Given the description of an element on the screen output the (x, y) to click on. 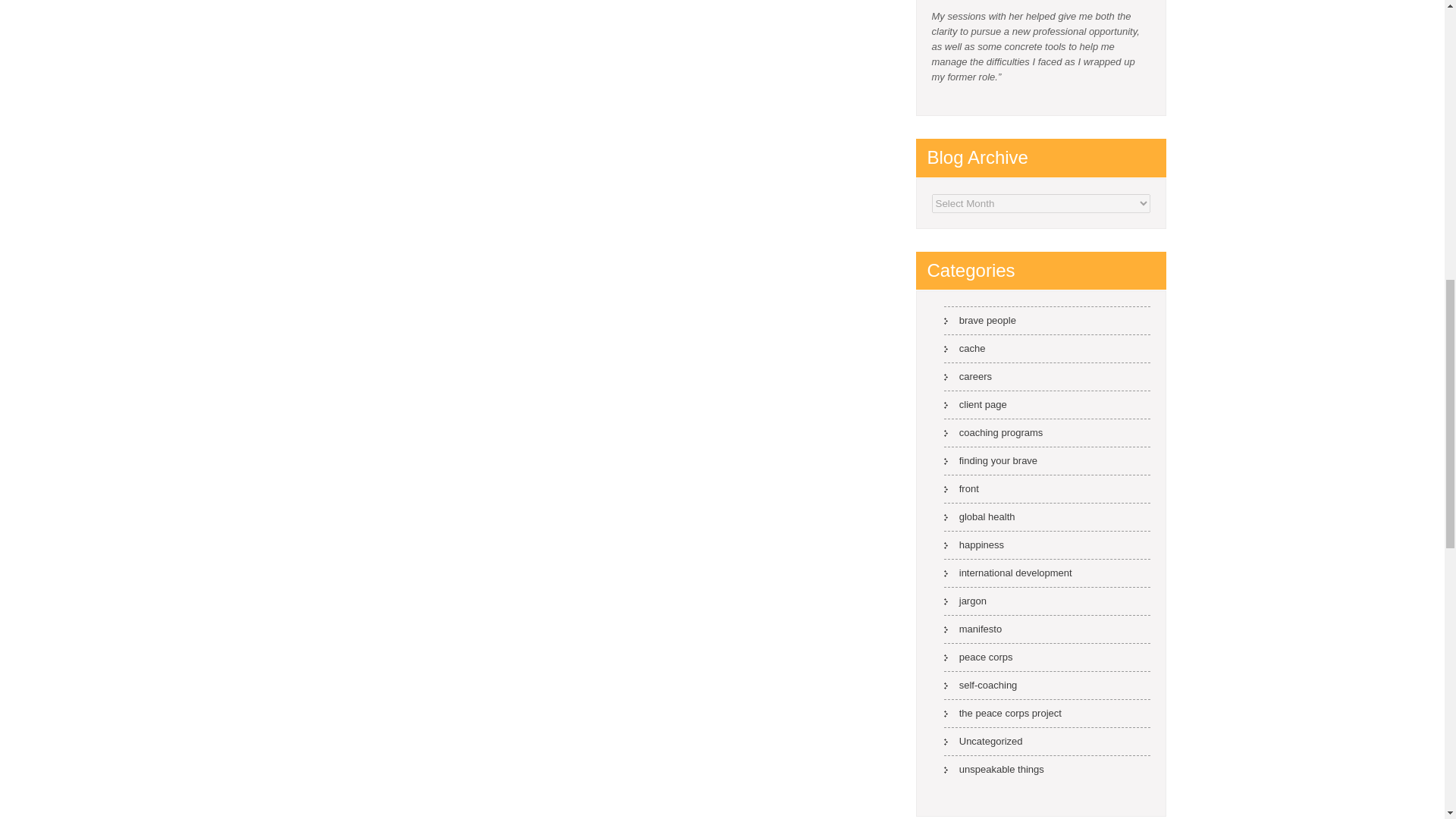
brave people (979, 320)
careers (967, 376)
cache (964, 347)
